Given the description of an element on the screen output the (x, y) to click on. 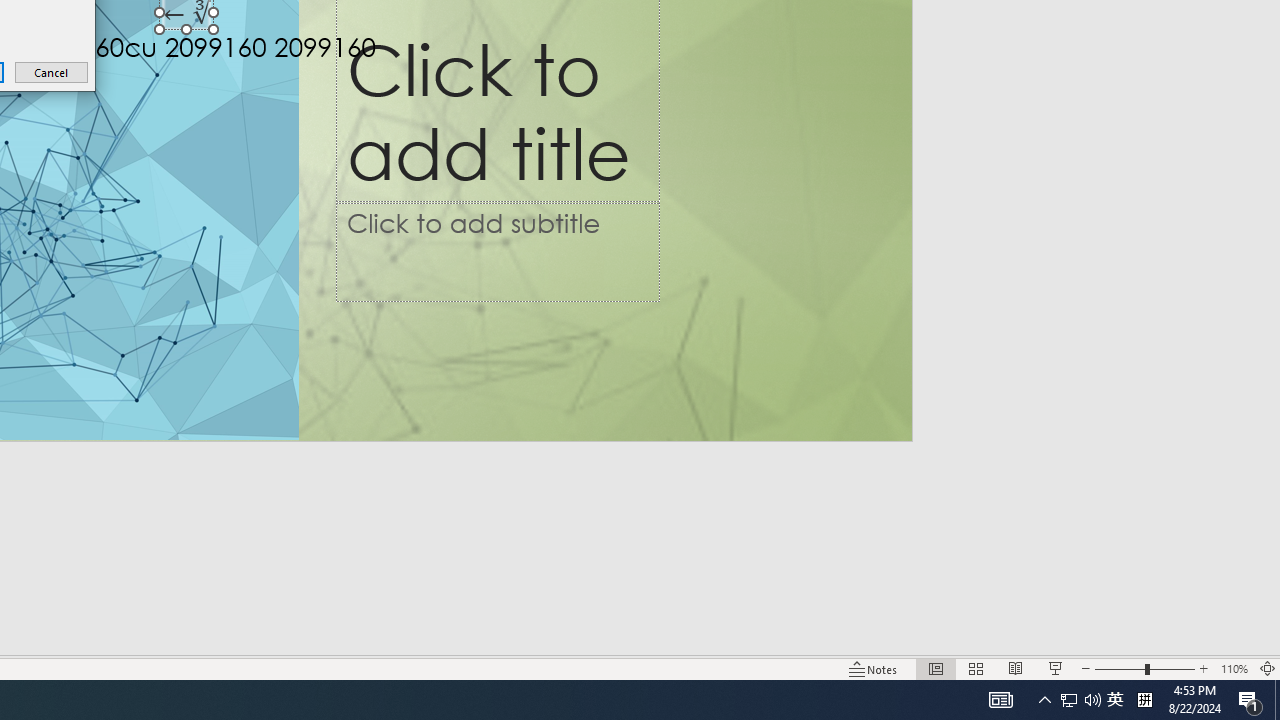
Zoom 110% (1234, 668)
